Given the description of an element on the screen output the (x, y) to click on. 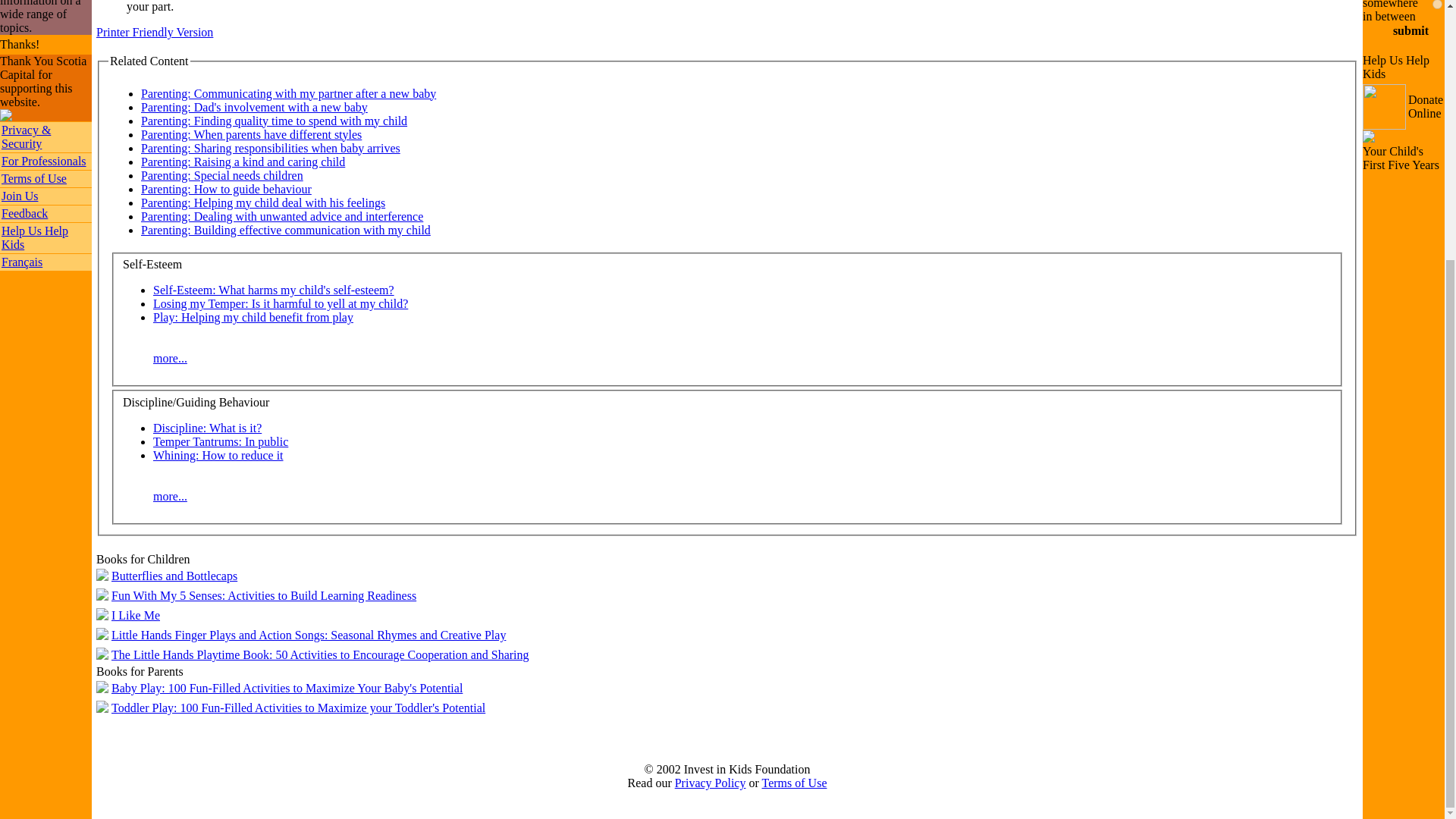
Parenting: Raising a kind and caring child (243, 161)
Parenting: When parents have different styles (251, 133)
3 (1437, 4)
Parenting: Helping my child deal with his feelings (263, 202)
Printer Friendly Version (154, 31)
Terms of Use (33, 178)
Feedback (24, 213)
Parenting: Dealing with unwanted advice and interference (282, 215)
Parenting: Special needs children (221, 174)
Self-Esteem: What harms my child's self-esteem? (273, 289)
Parenting: How to guide behaviour (226, 188)
Parenting: Building effective communication with my child (285, 229)
Parenting: Finding quality time to spend with my child (274, 120)
For Professionals (43, 160)
Join Us (19, 195)
